Given the description of an element on the screen output the (x, y) to click on. 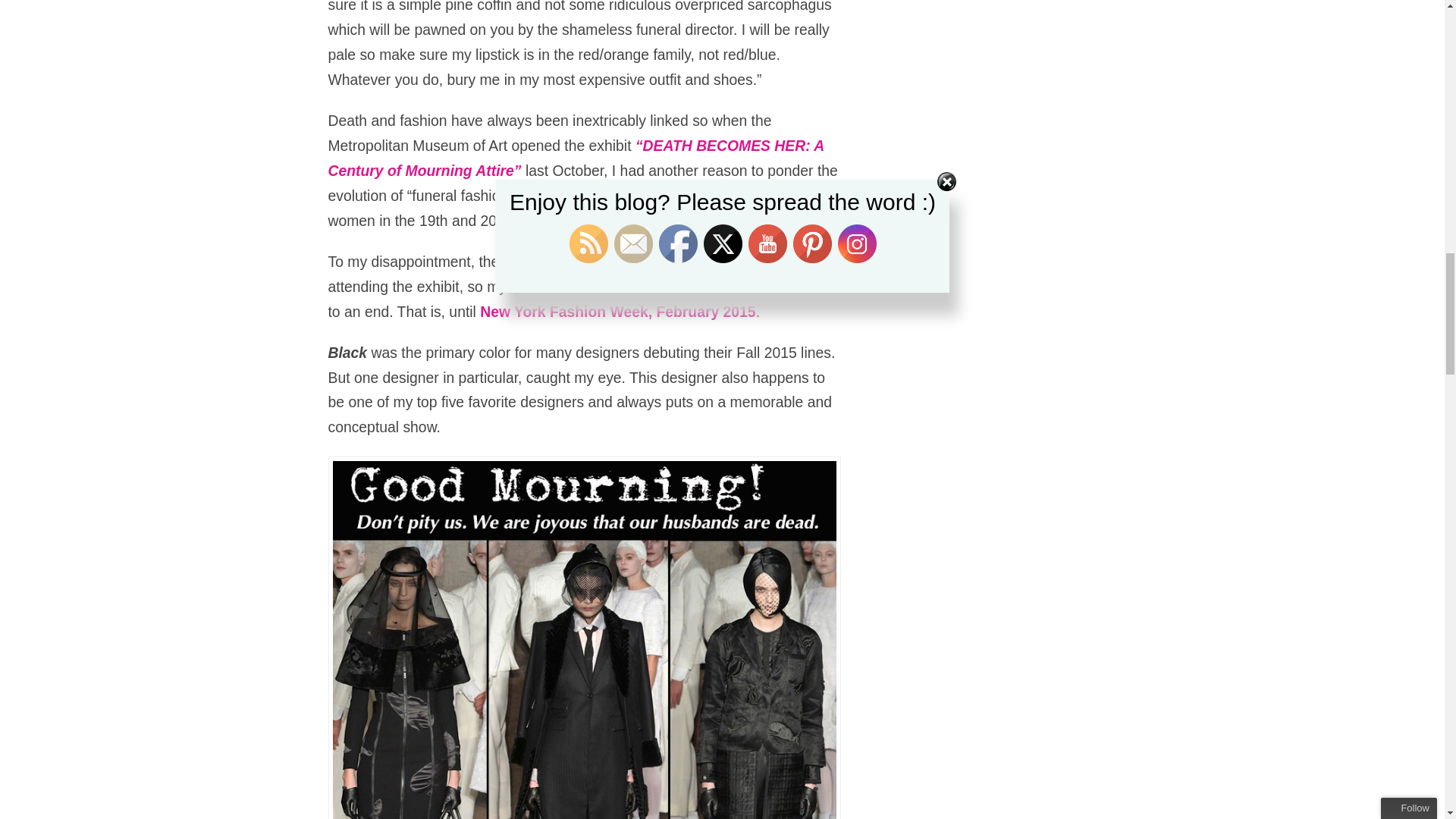
New York Fashion Week, February 2015 (617, 311)
NY fashion week 2015 (617, 311)
Death Becomes Her: Met exhibit NYC (575, 158)
